Given the description of an element on the screen output the (x, y) to click on. 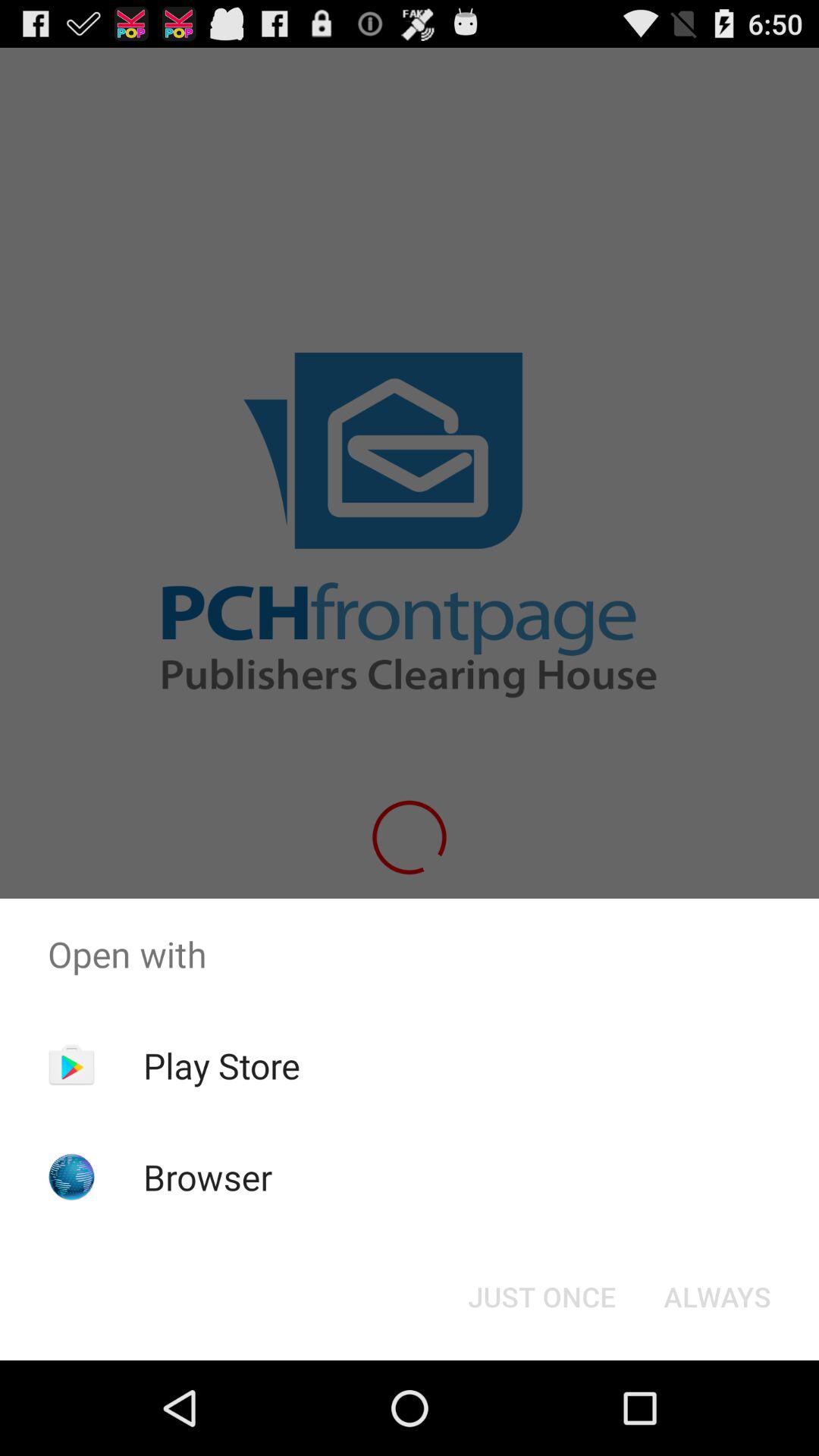
press icon next to just once (717, 1296)
